Given the description of an element on the screen output the (x, y) to click on. 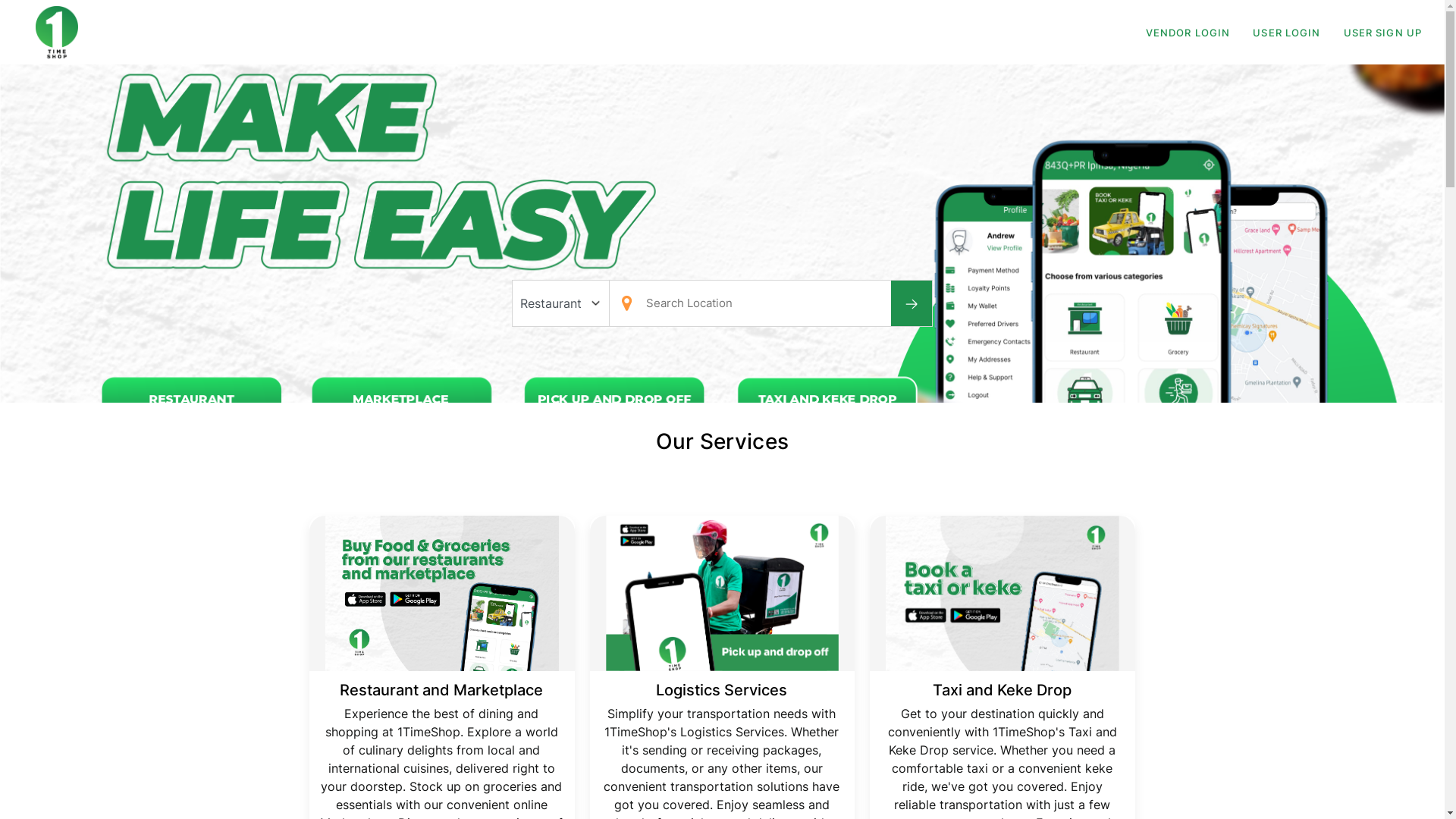
USER LOGIN Element type: text (1286, 32)
USER SIGN UP Element type: text (1382, 32)
VENDOR LOGIN Element type: text (1187, 32)
